Given the description of an element on the screen output the (x, y) to click on. 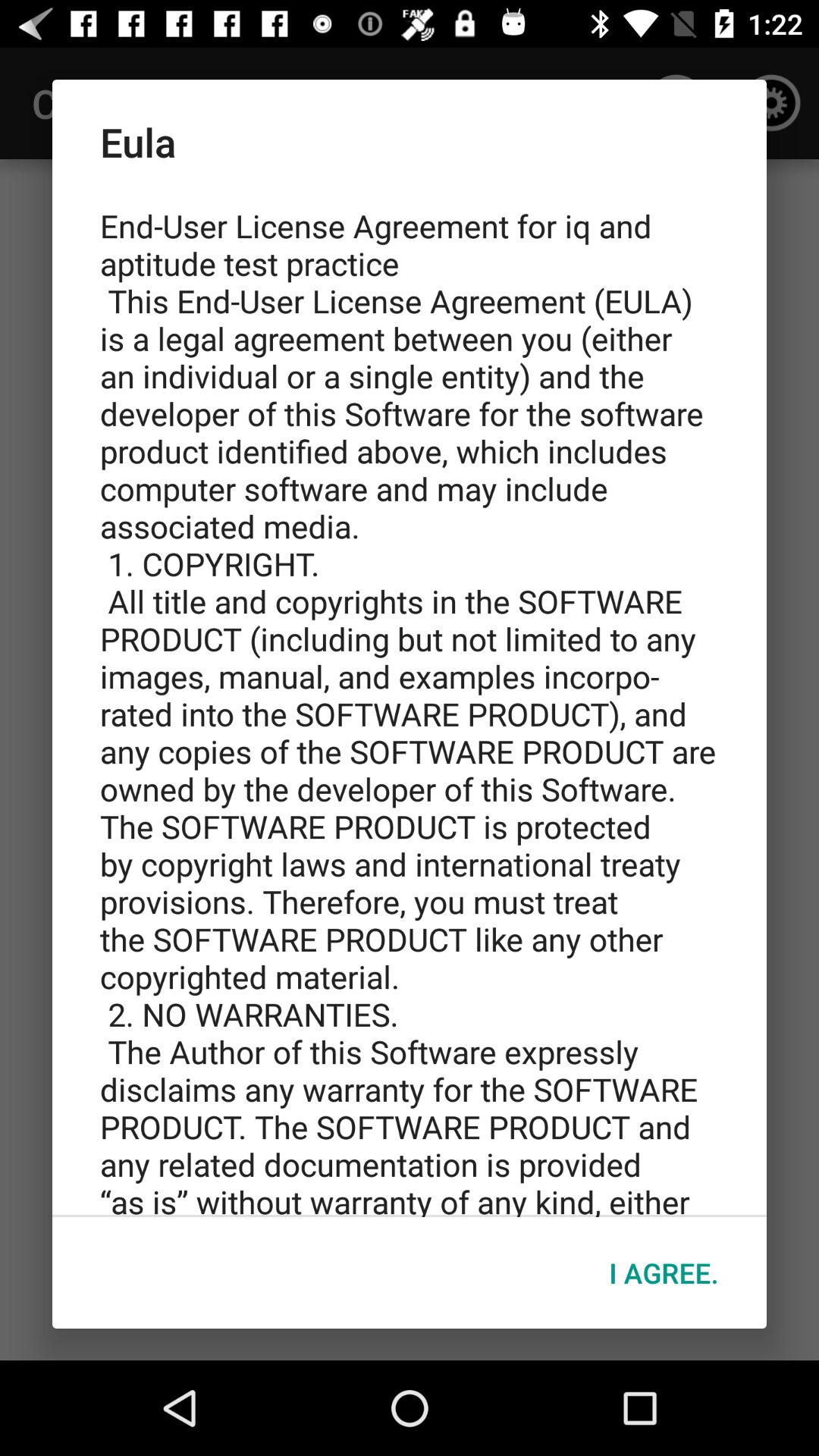
click icon below the end user license icon (663, 1272)
